Given the description of an element on the screen output the (x, y) to click on. 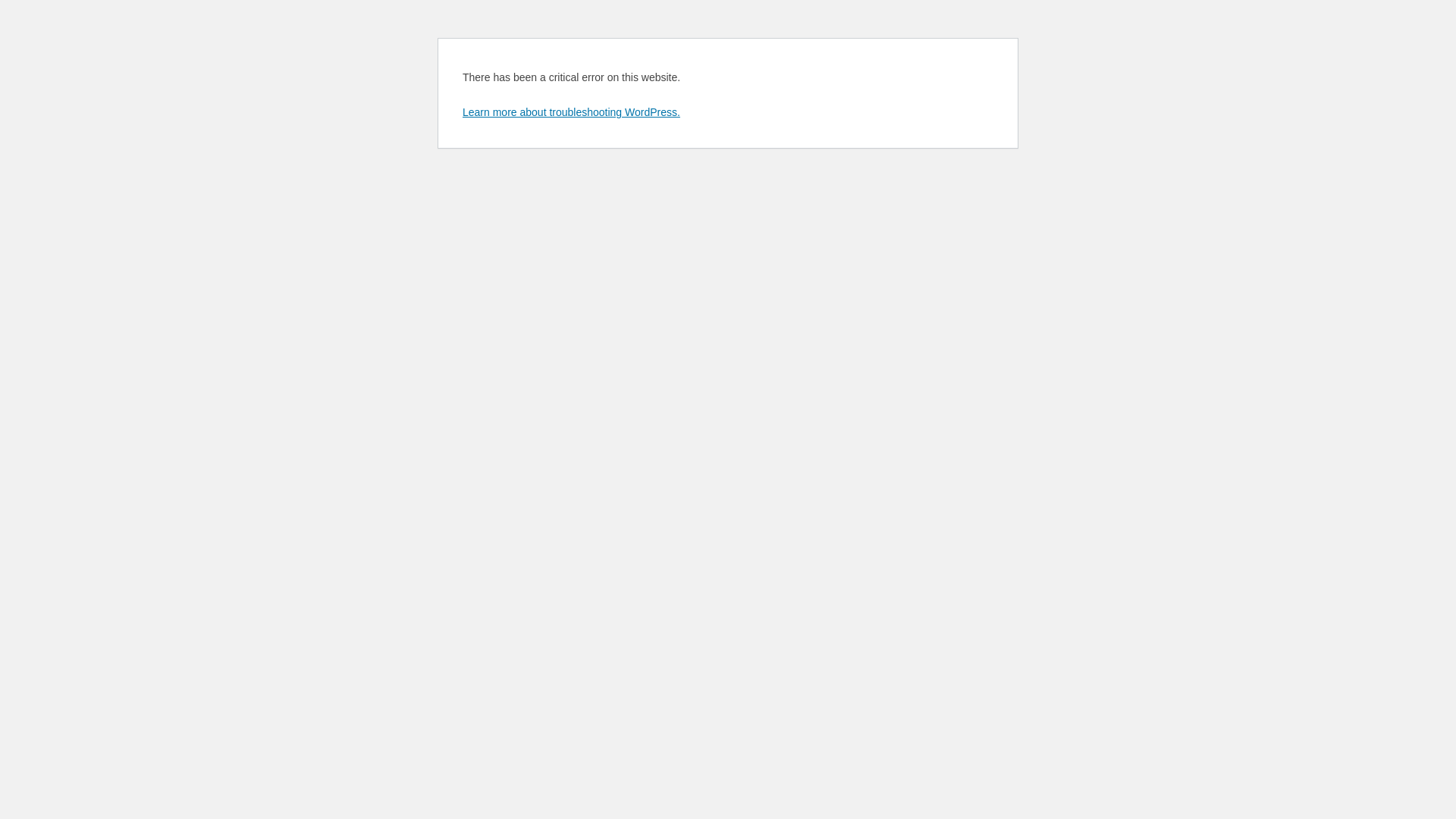
Learn more about troubleshooting WordPress. Element type: text (571, 112)
